Given the description of an element on the screen output the (x, y) to click on. 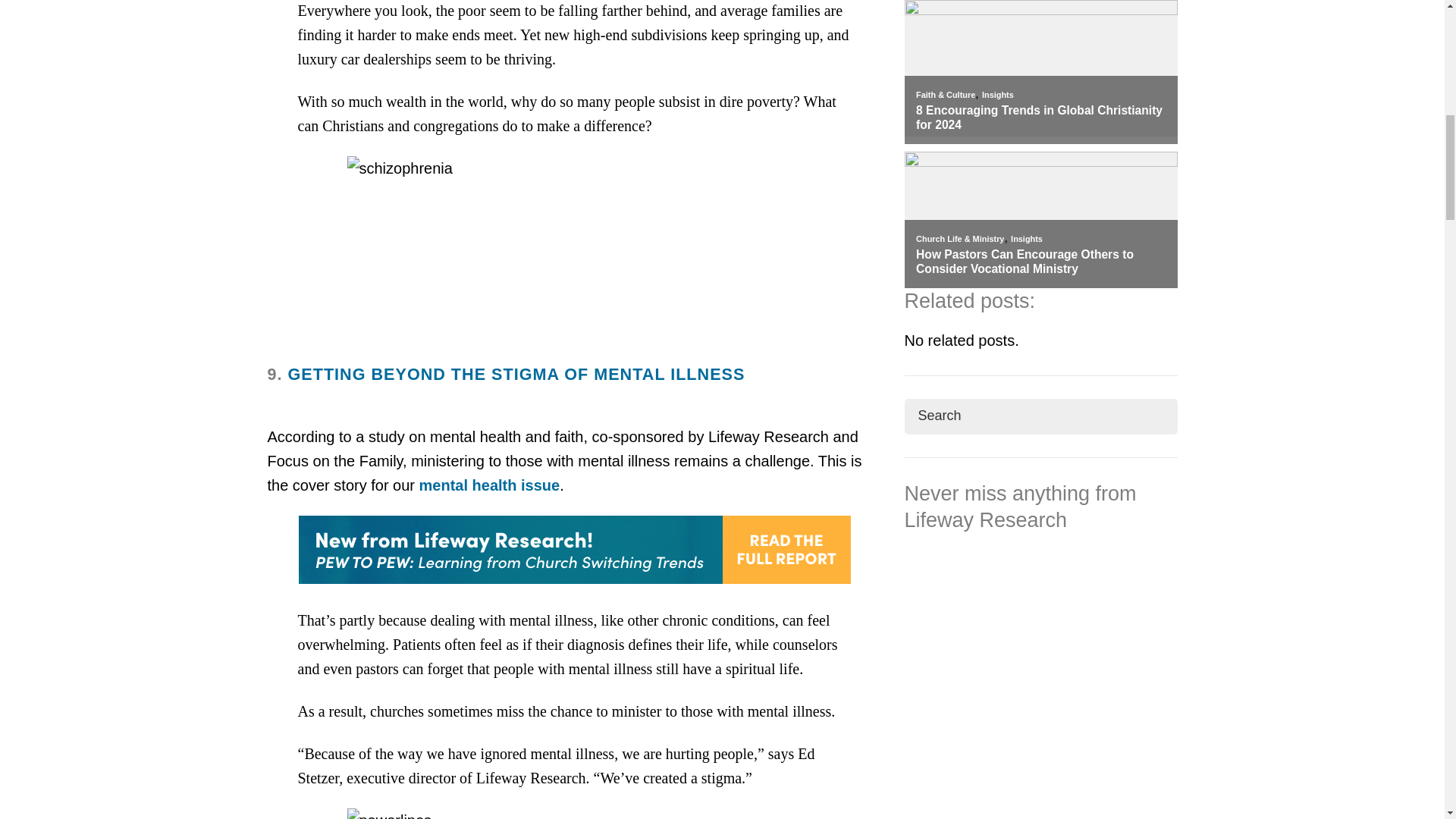
GETTING BEYOND THE STIGMA OF MENTAL ILLNESS (516, 374)
mental health issue (489, 484)
